Given the description of an element on the screen output the (x, y) to click on. 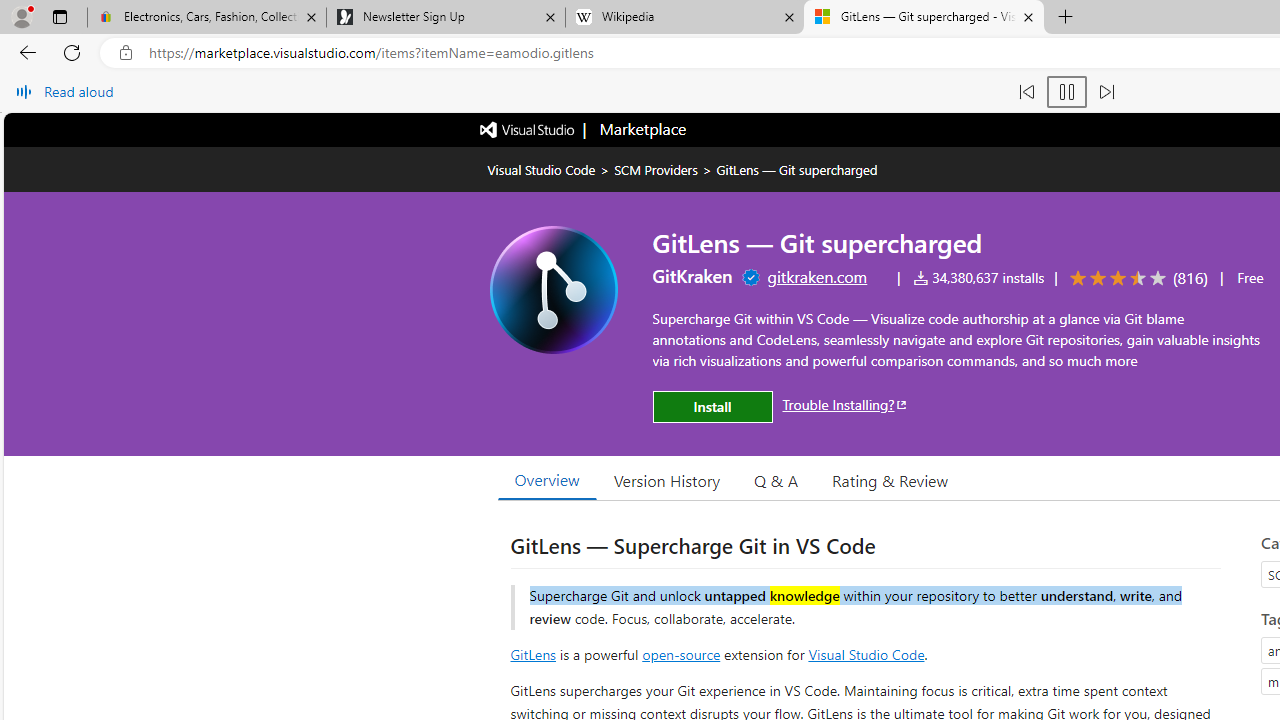
Visual Studio logo Marketplace logo (582, 129)
Overview (546, 479)
Visual Studio logo (528, 128)
Visual Studio Code (866, 653)
SCM Providers (655, 169)
Read next paragraph (1105, 92)
More from GitKraken publisher (692, 276)
open-source (681, 653)
Version History (667, 479)
